Given the description of an element on the screen output the (x, y) to click on. 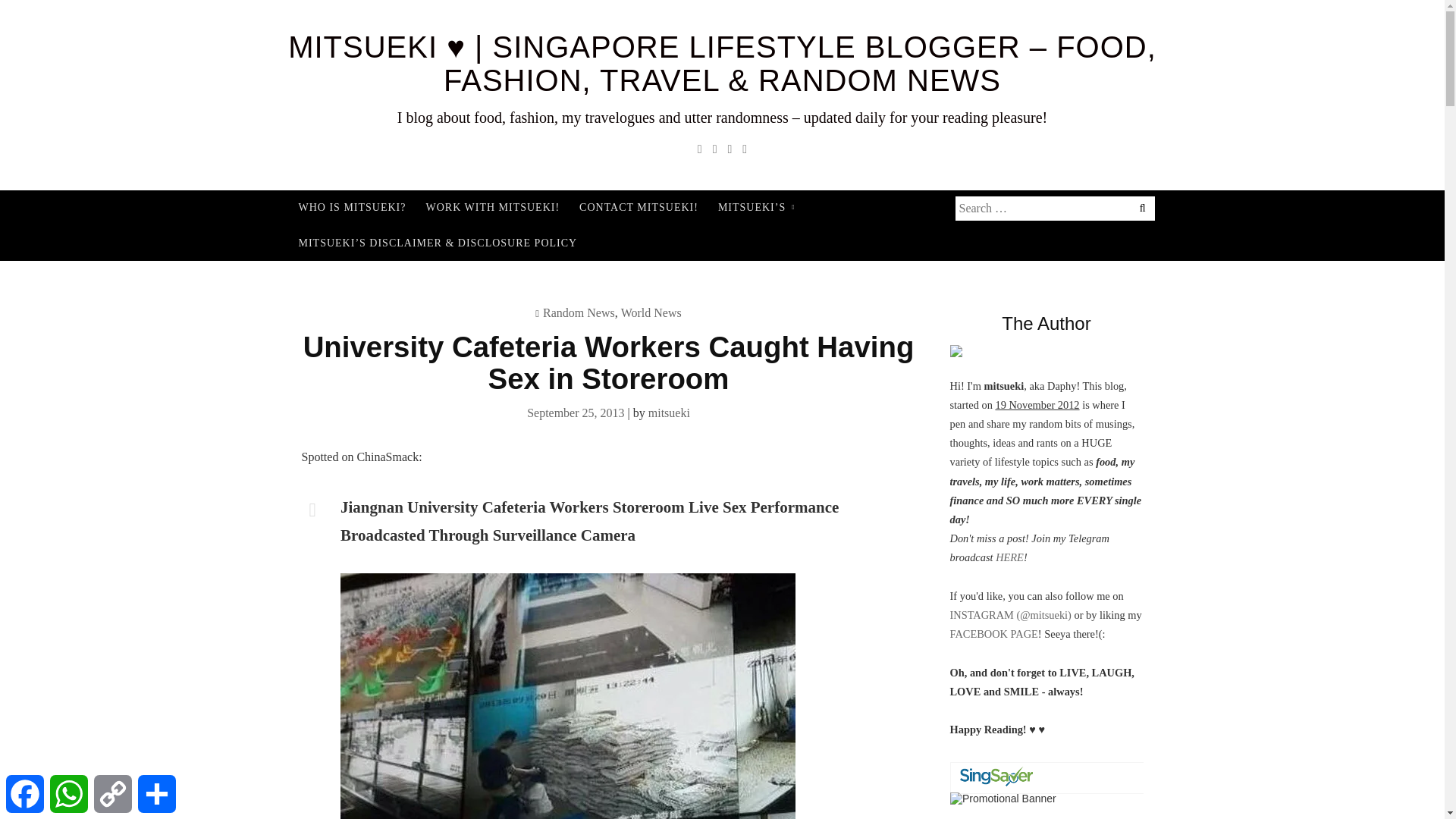
CONTACT MITSUEKI! (638, 208)
CAG Affiliate Widget (1045, 790)
World News (651, 312)
WHO IS MITSUEKI? (351, 208)
Search (99, 12)
mitsueki (668, 412)
Random News (578, 312)
September 25, 2013 (575, 412)
WORK WITH MITSUEKI! (491, 208)
